Given the description of an element on the screen output the (x, y) to click on. 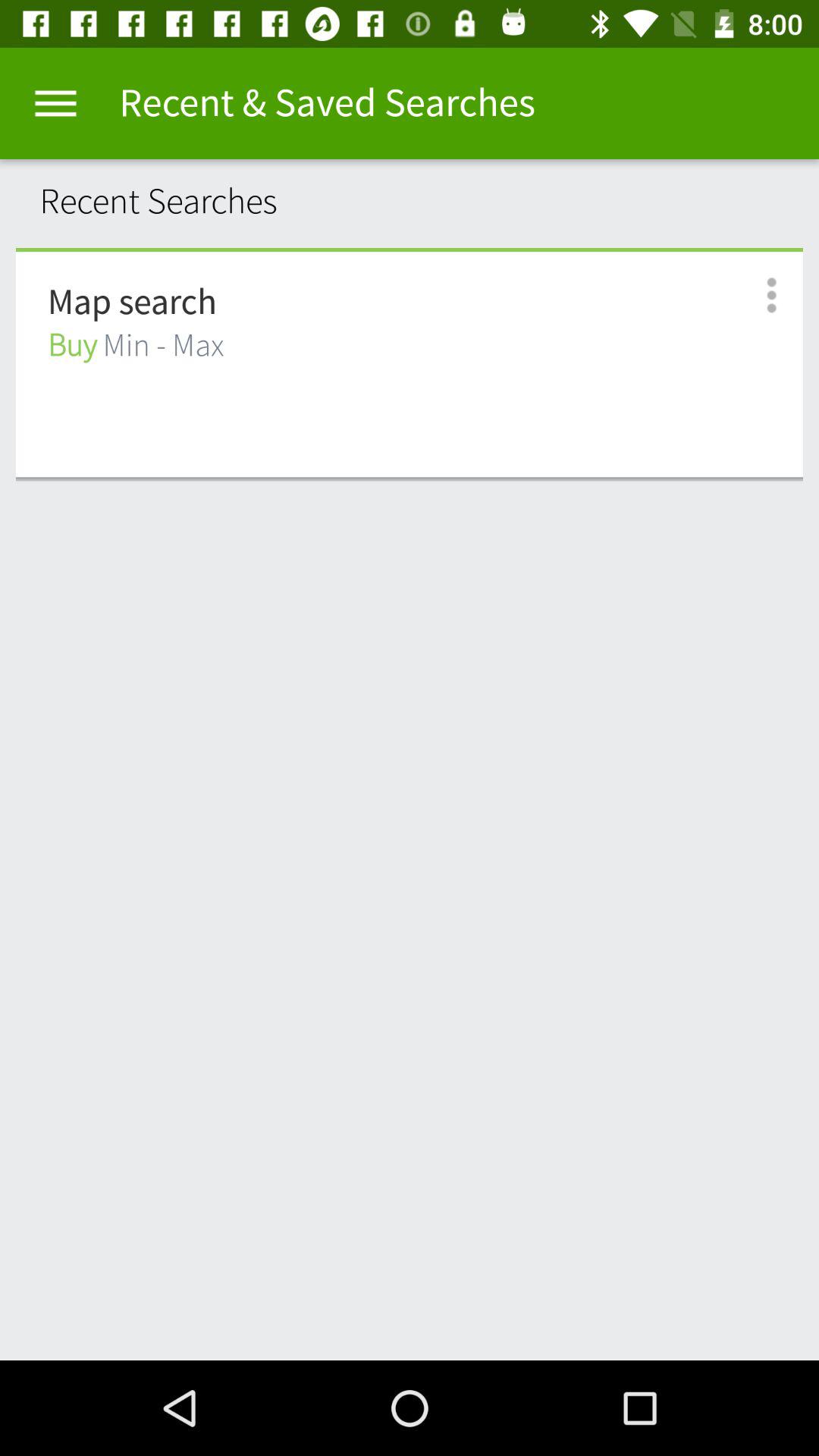
turn off the item below recent searches (409, 249)
